Given the description of an element on the screen output the (x, y) to click on. 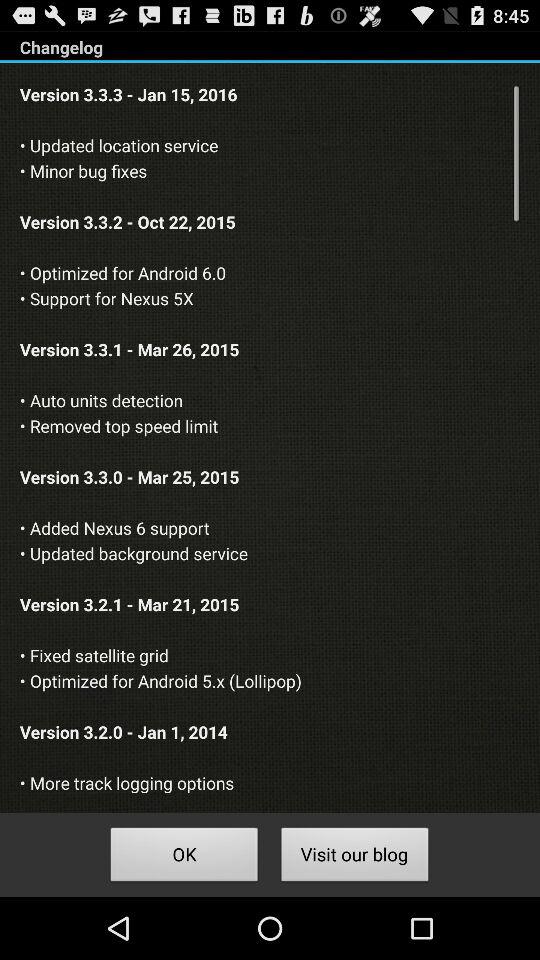
flip to the visit our blog icon (354, 857)
